Given the description of an element on the screen output the (x, y) to click on. 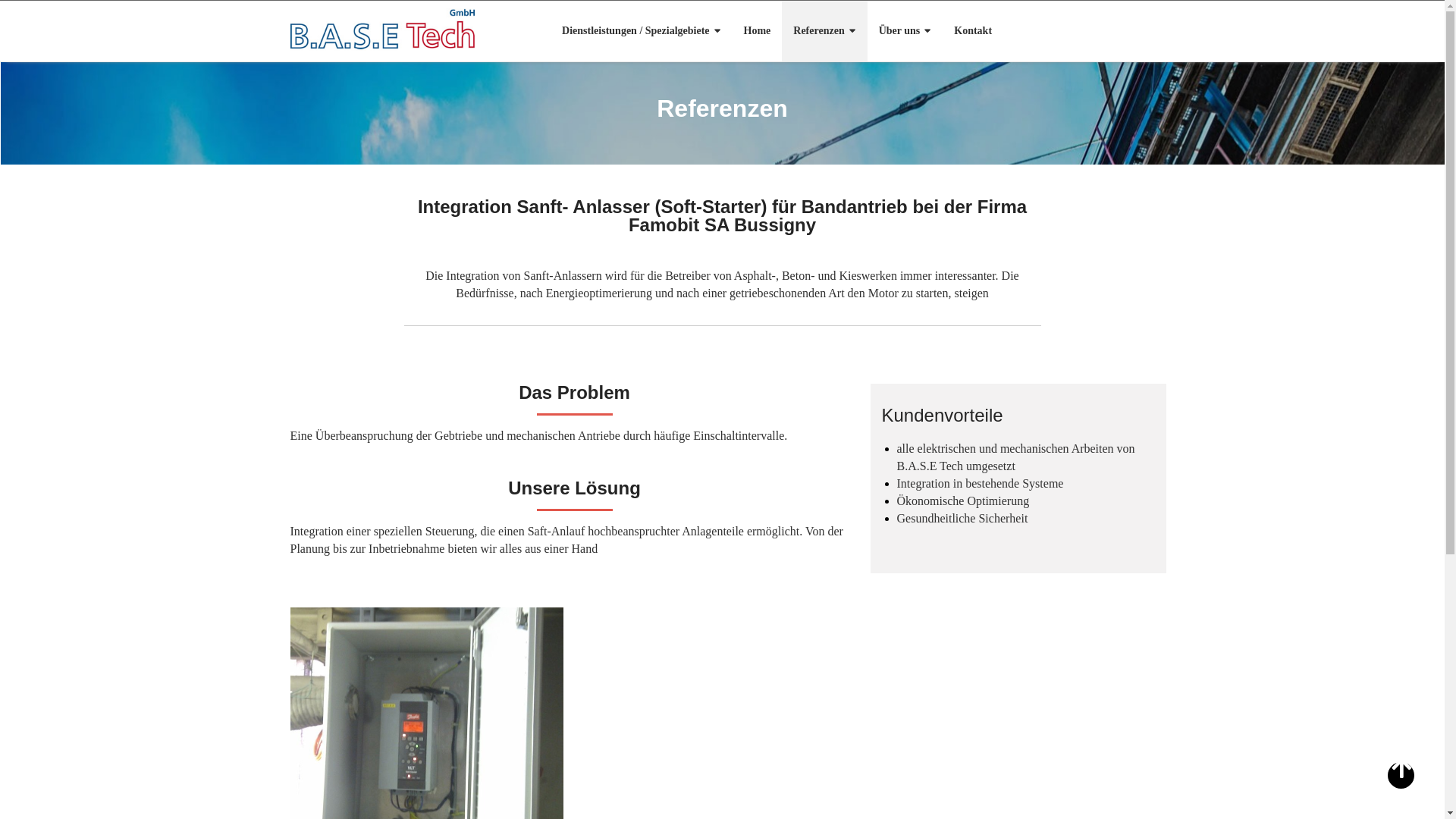
Kontakt Element type: text (972, 30)
Referenzen Element type: text (823, 30)
Dienstleistungen / Spezialgebiete Element type: text (640, 30)
Home Element type: text (757, 30)
